Given the description of an element on the screen output the (x, y) to click on. 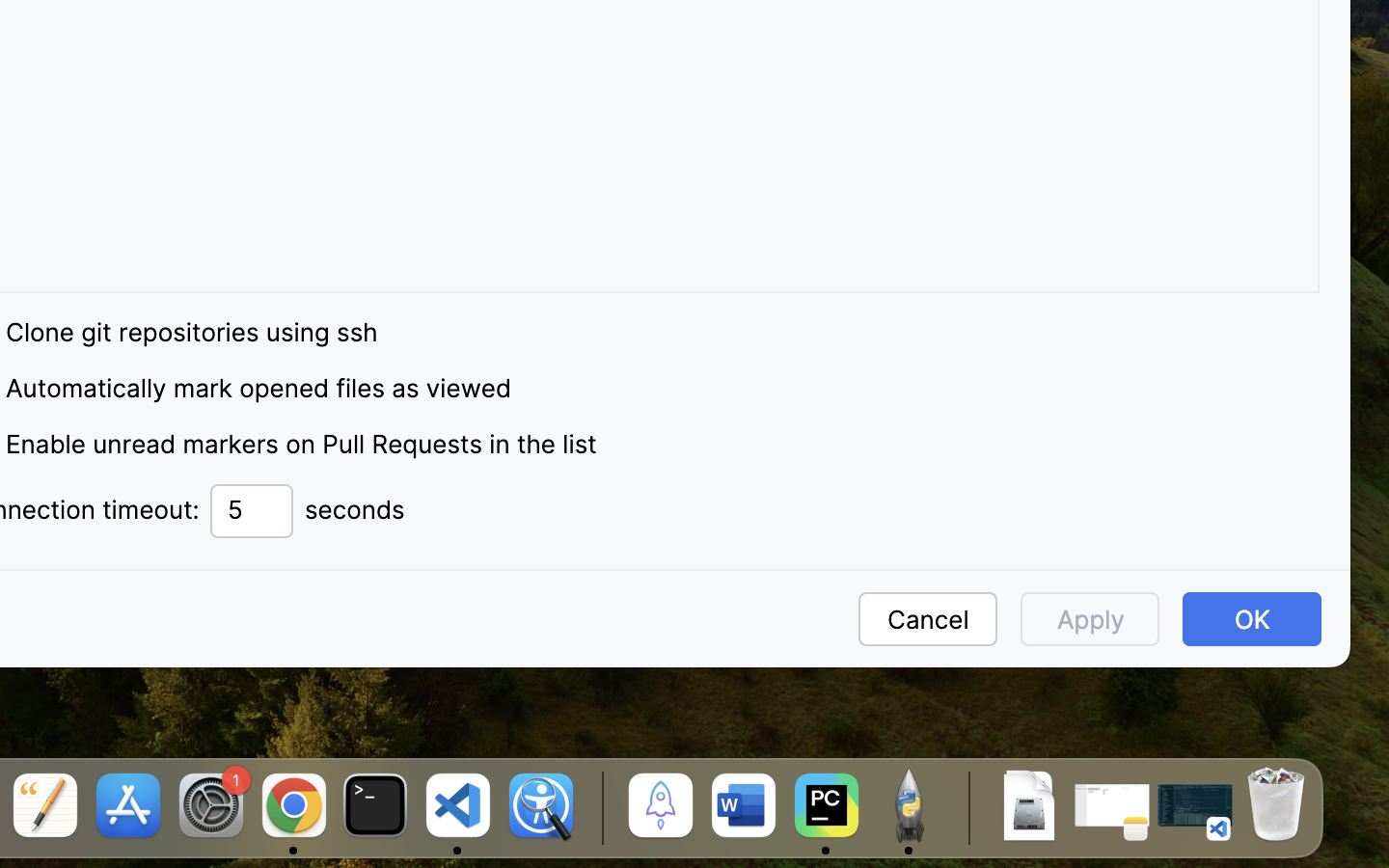
5 Element type: AXTextField (251, 510)
seconds Element type: AXStaticText (354, 509)
0.4285714328289032 Element type: AXDockItem (598, 807)
